Given the description of an element on the screen output the (x, y) to click on. 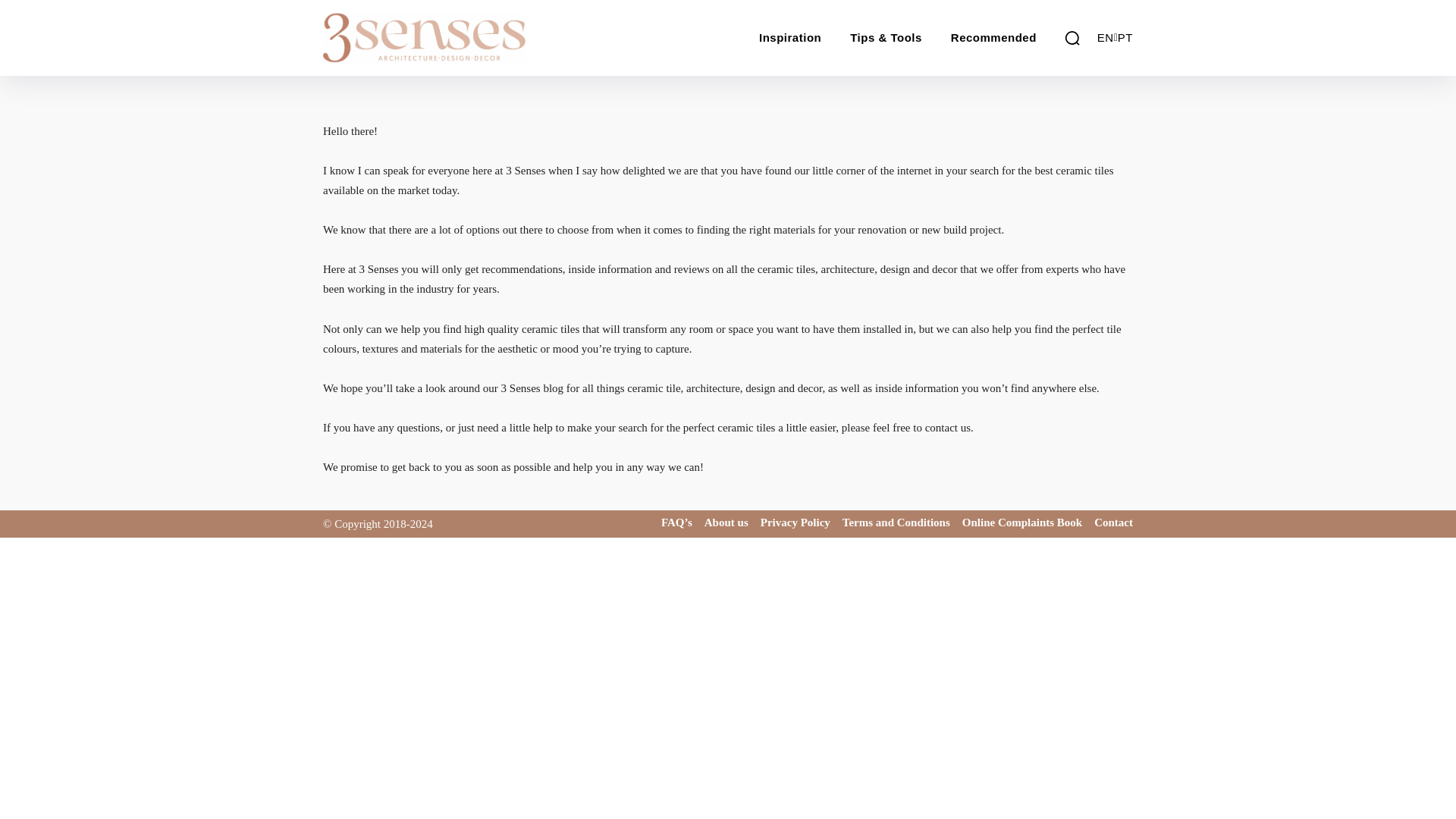
About us (726, 522)
Terms and Conditions (896, 522)
Privacy Policy (794, 522)
Contact (1113, 522)
Online Complaints Book (1021, 522)
Inspiration (789, 38)
Recommended (993, 38)
